Given the description of an element on the screen output the (x, y) to click on. 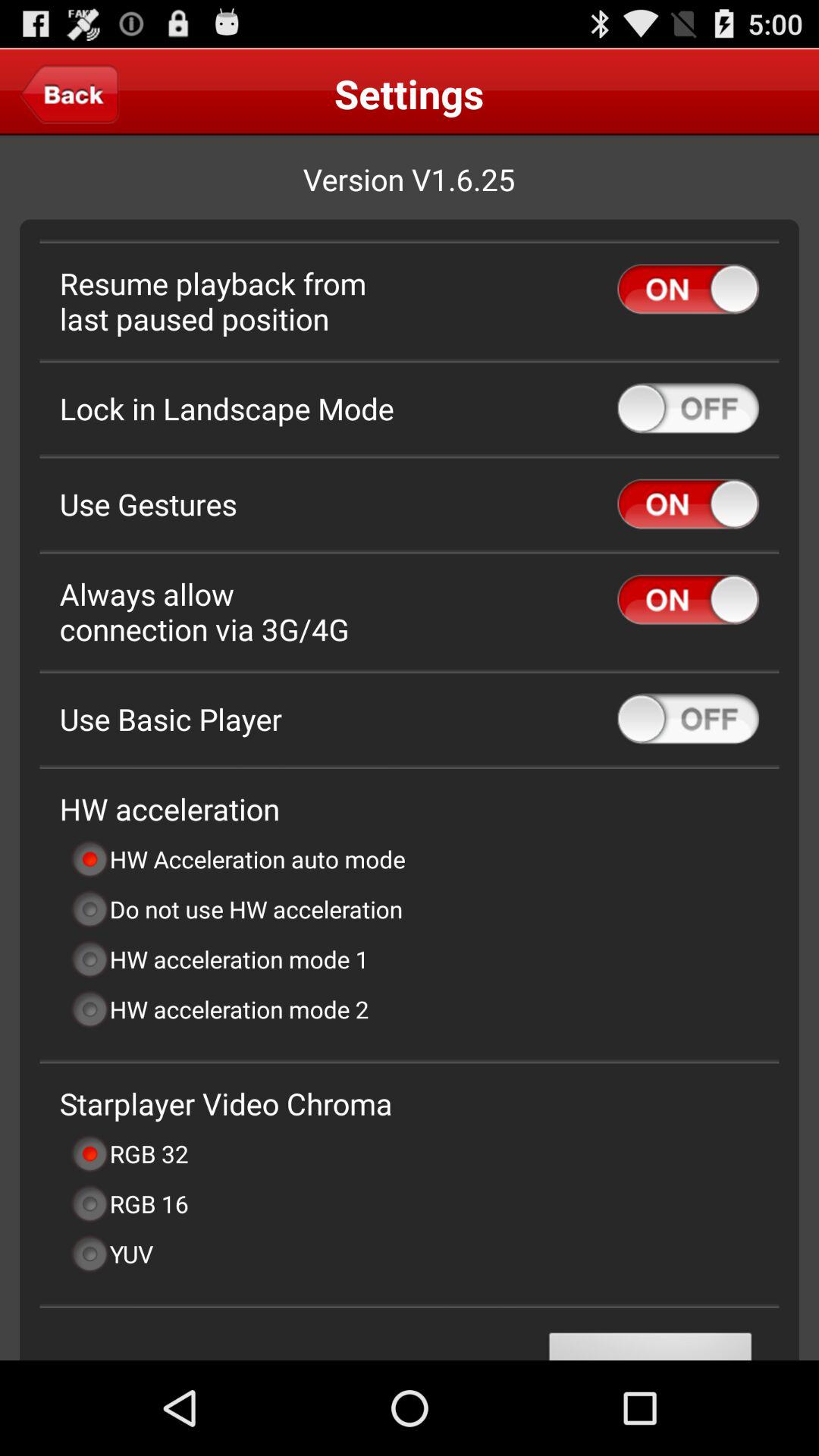
tap the icon next to the settings app (69, 93)
